Given the description of an element on the screen output the (x, y) to click on. 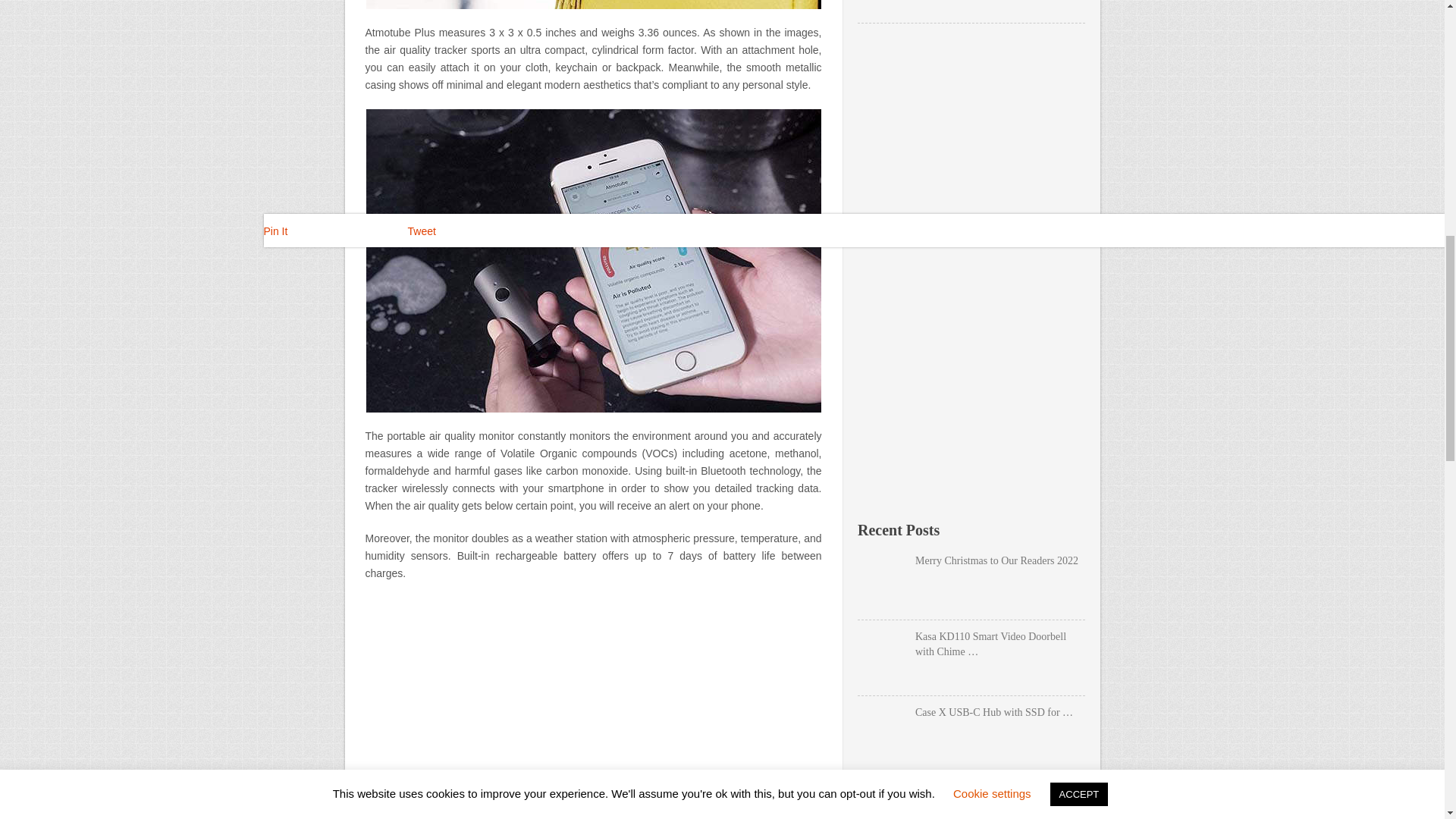
YouTube video player (593, 708)
